Given the description of an element on the screen output the (x, y) to click on. 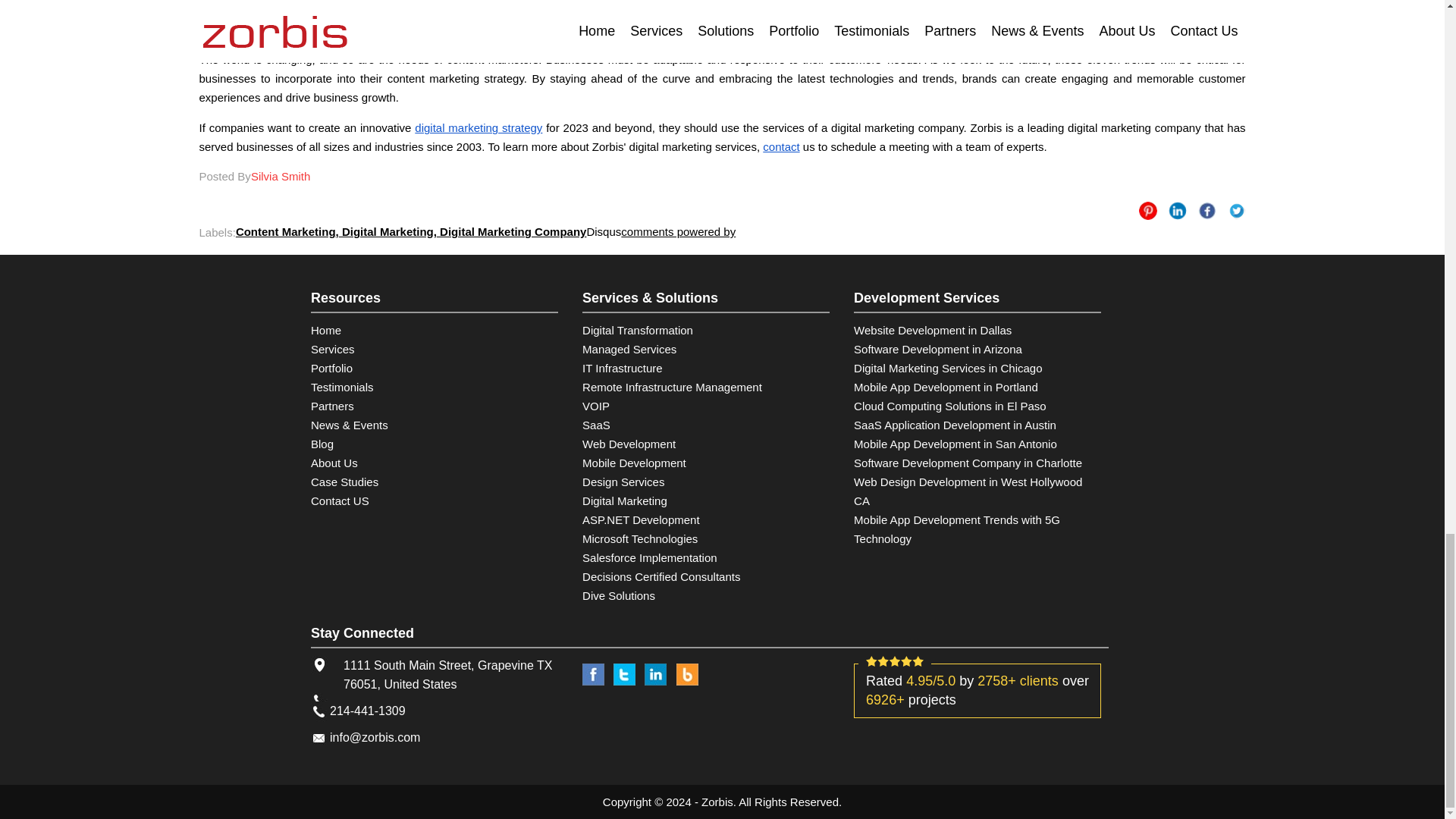
contact (780, 146)
Share to Facebook (1206, 210)
digital marketing strategy (477, 127)
